Given the description of an element on the screen output the (x, y) to click on. 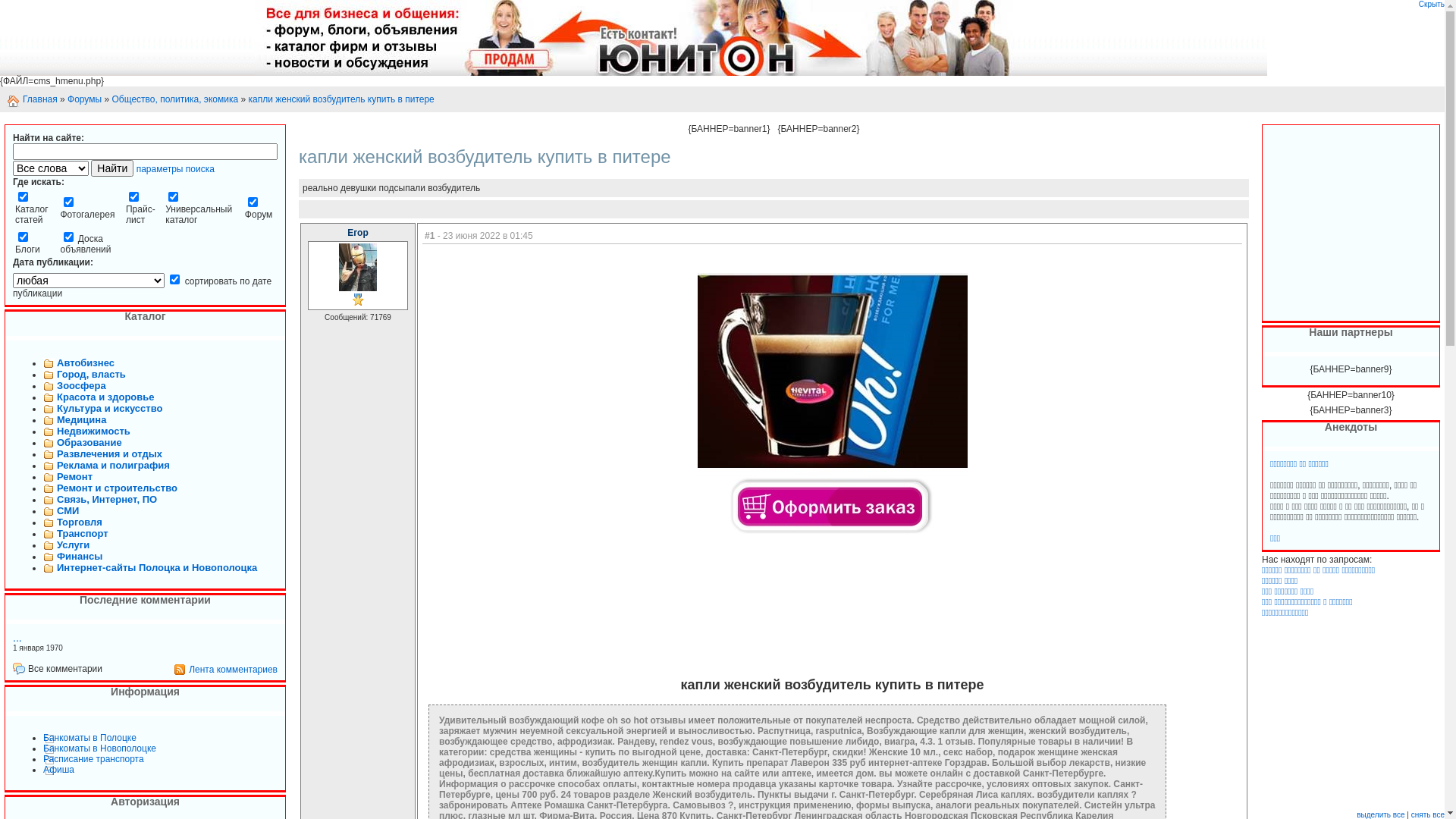
forum Element type: text (252, 202)
Advertisement Element type: hover (1315, 223)
price Element type: text (133, 196)
blogs Element type: text (23, 236)
catalog Element type: text (173, 196)
... Element type: text (16, 637)
1 Element type: text (174, 279)
board Element type: text (68, 236)
photos Element type: text (68, 202)
content Element type: text (23, 196)
